Given the description of an element on the screen output the (x, y) to click on. 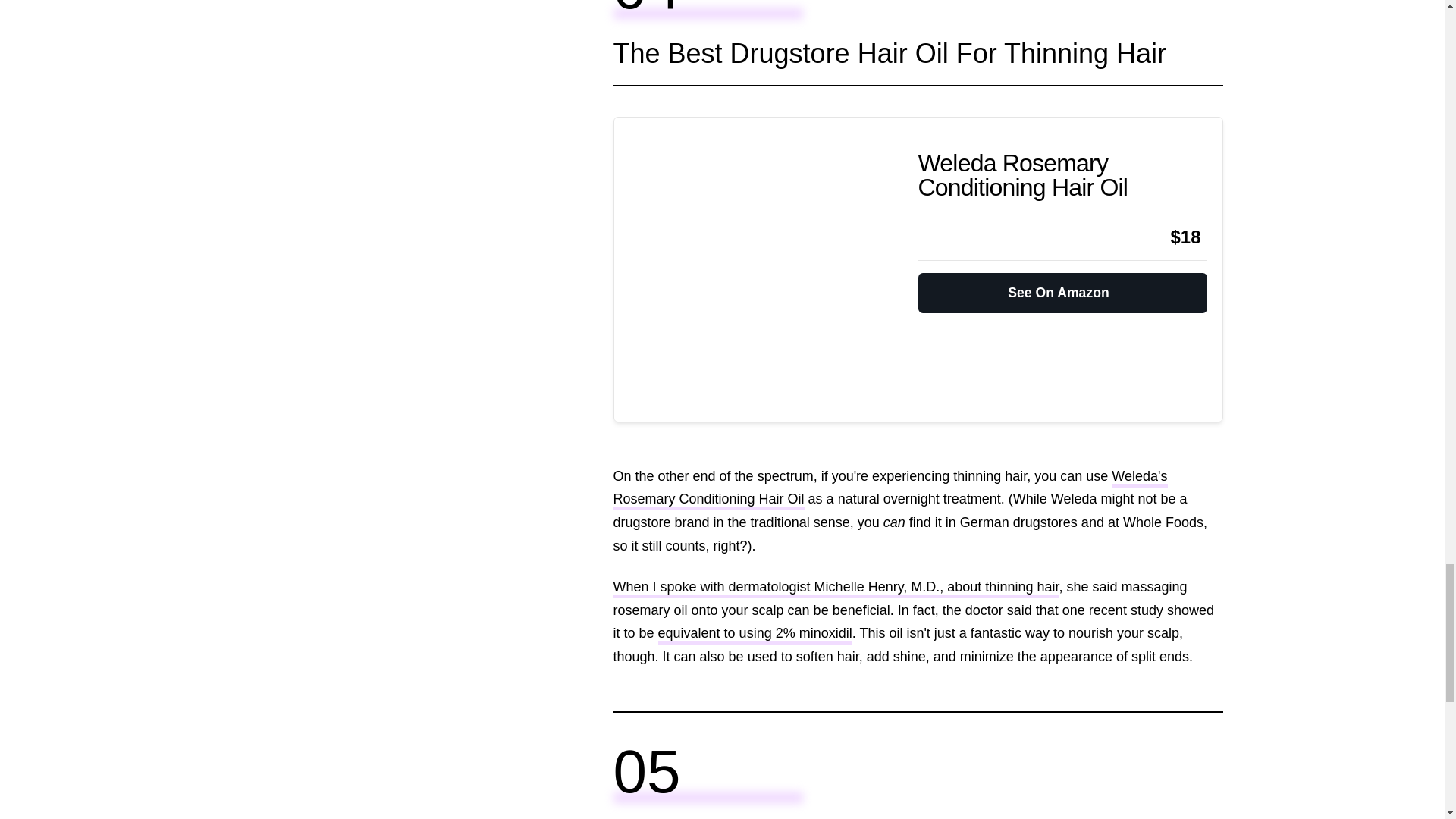
Weleda's Rosemary Conditioning Hair Oil (889, 489)
See On Amazon (1062, 286)
Amazon (957, 237)
